Given the description of an element on the screen output the (x, y) to click on. 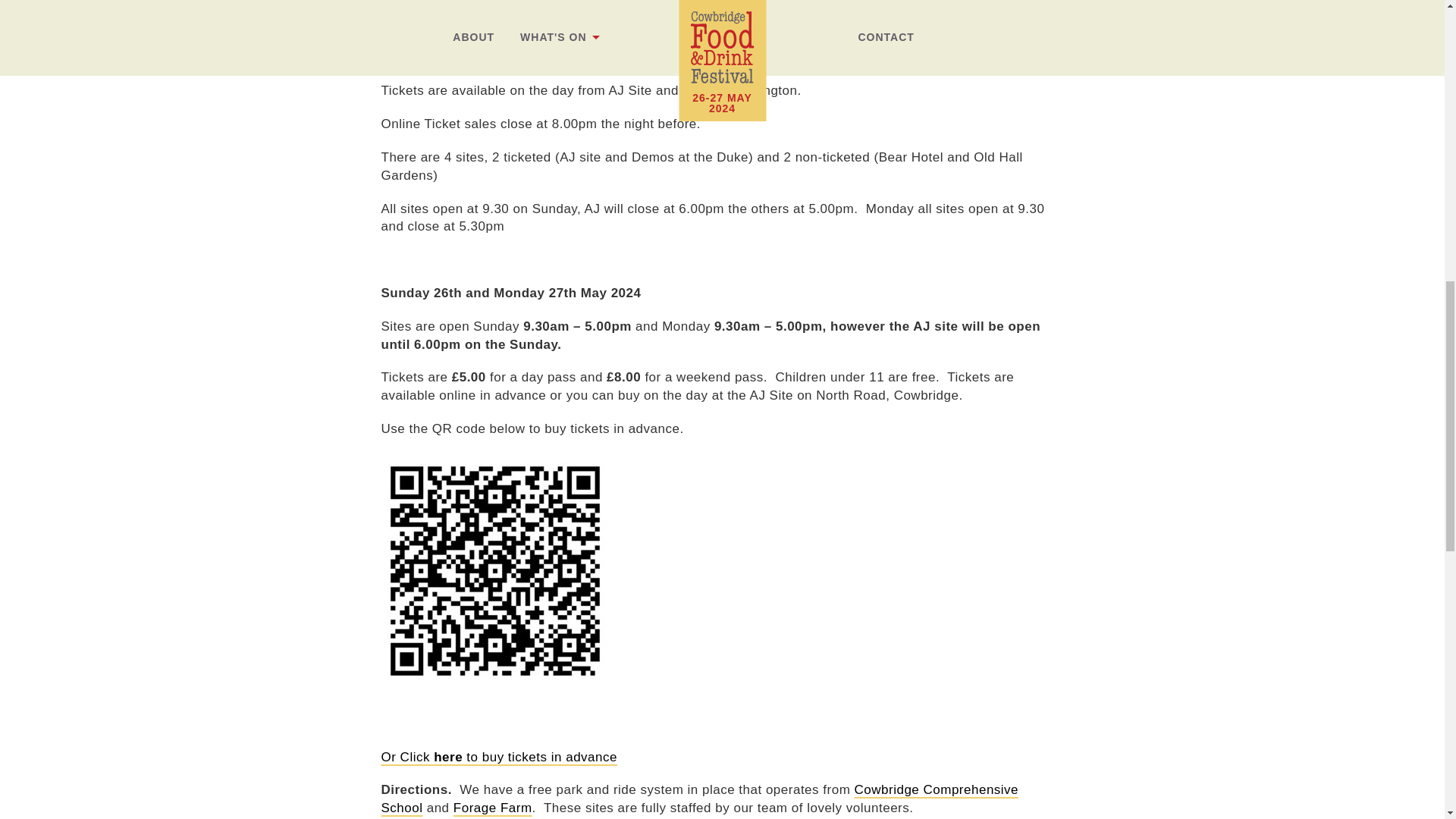
Cowbridge Comprehensive School (698, 798)
Forage Farm (492, 807)
Or Click here to buy tickets in advance (497, 757)
